Given the description of an element on the screen output the (x, y) to click on. 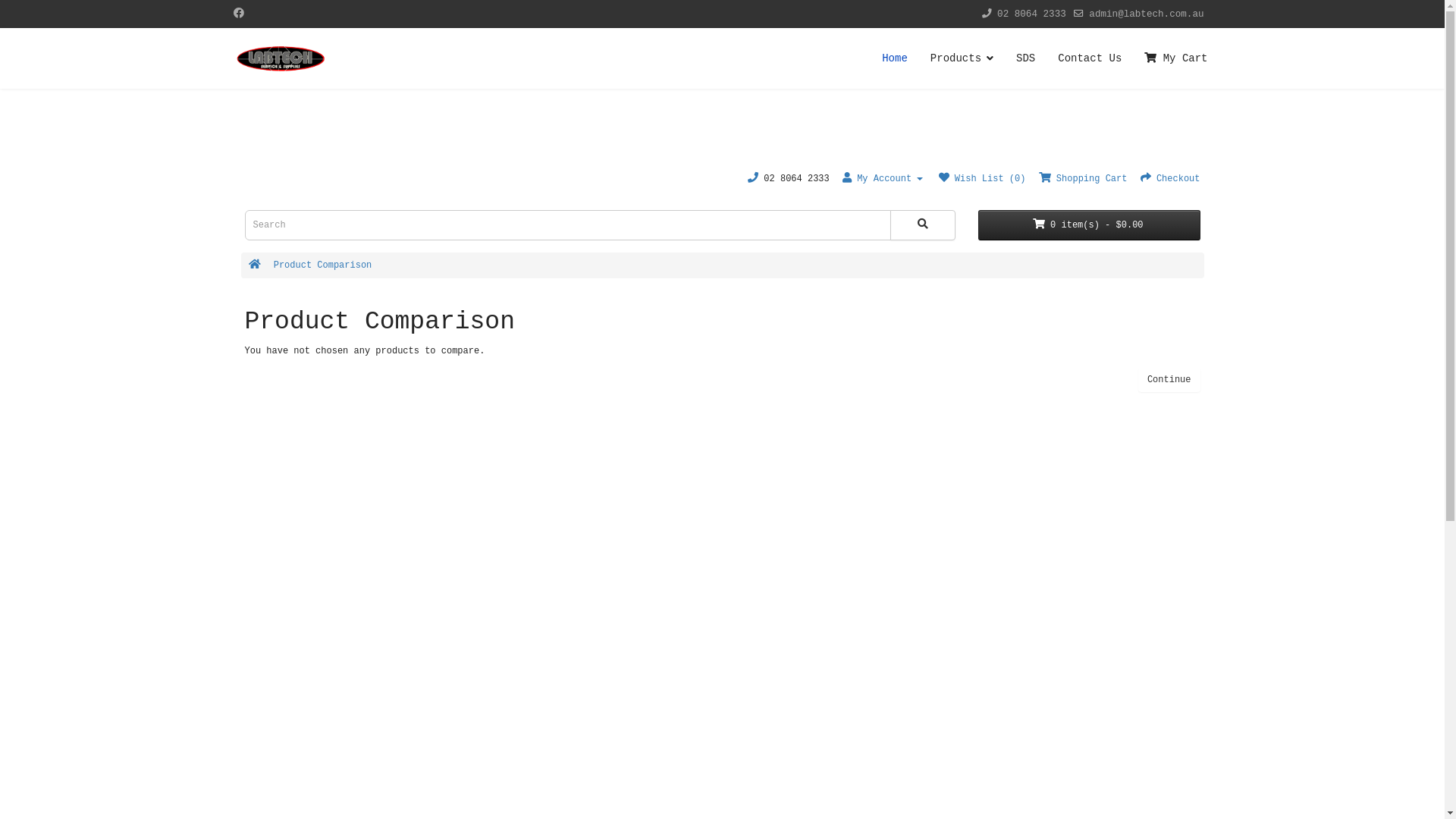
02 8064 2333 Element type: text (1031, 14)
Contact Us Element type: text (1089, 58)
0 item(s) - $0.00 Element type: text (1089, 225)
Wish List (0) Element type: text (982, 178)
My Account Element type: text (883, 178)
Continue Element type: text (1169, 379)
SDS Element type: text (1025, 58)
Product Comparison Element type: text (322, 265)
Checkout Element type: text (1170, 178)
Shopping Cart Element type: text (1082, 178)
Home Element type: text (894, 58)
admin@labtech.com.au Element type: text (1145, 14)
My Cart Element type: text (1169, 58)
